Given the description of an element on the screen output the (x, y) to click on. 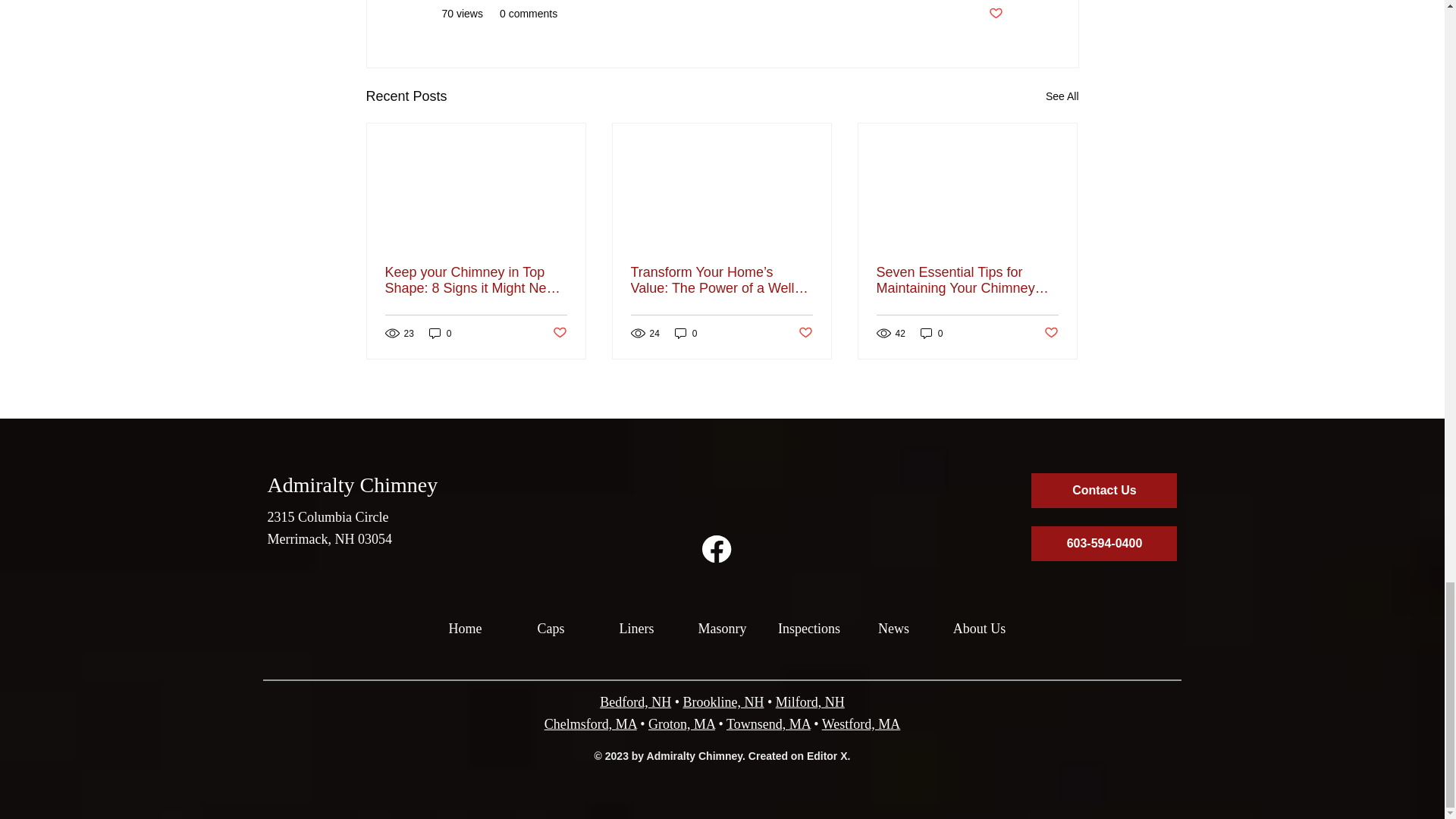
603-594-0400 (1103, 543)
Post not marked as liked (558, 333)
0 (931, 332)
0 (685, 332)
Contact Us (1103, 490)
Home (465, 621)
Seven Essential Tips for Maintaining Your Chimney Masonry (967, 280)
0 (440, 332)
Post not marked as liked (804, 333)
Post not marked as liked (995, 13)
See All (1061, 96)
Post not marked as liked (1050, 333)
Editor X. (828, 756)
